Given the description of an element on the screen output the (x, y) to click on. 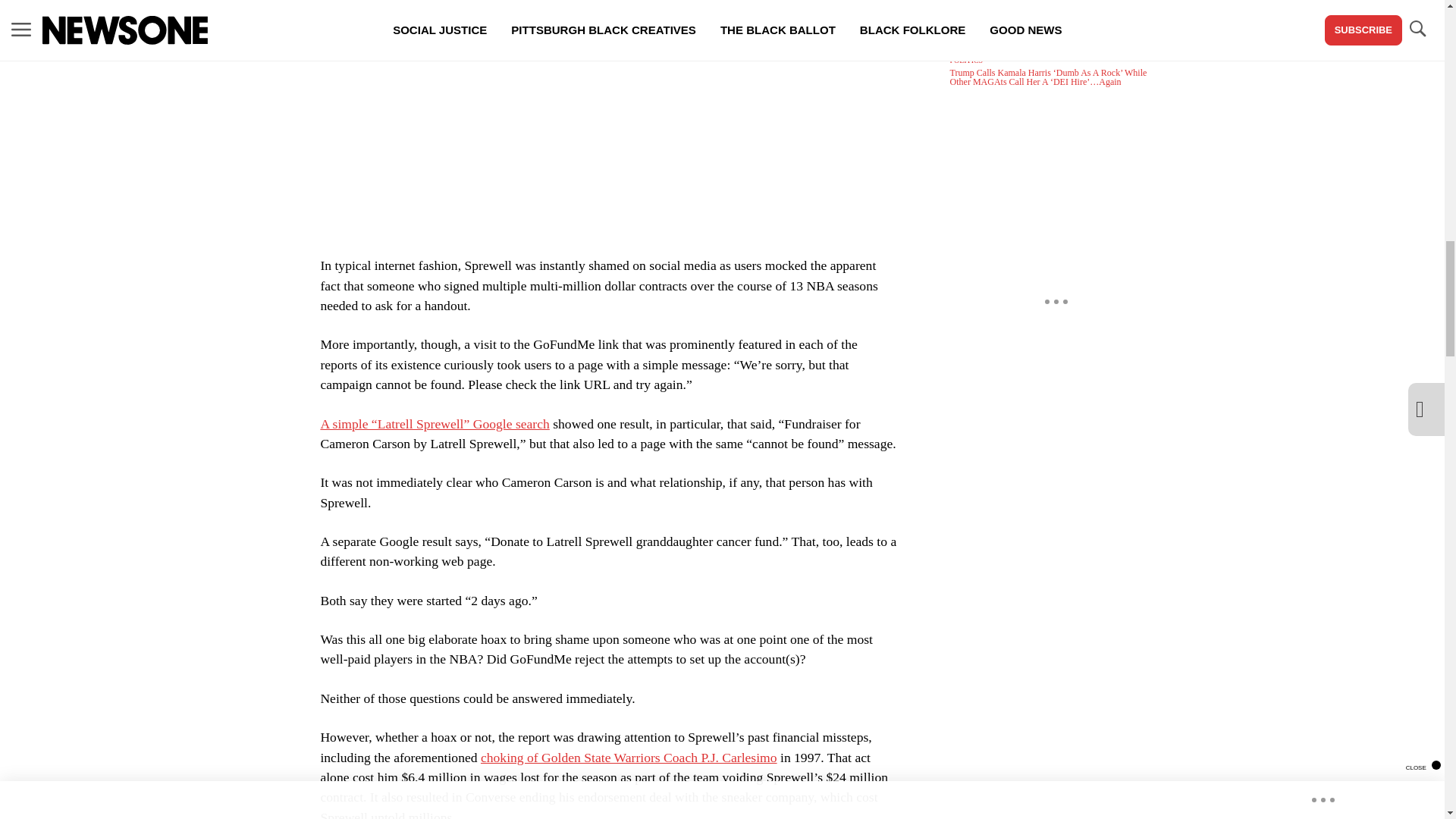
choking of Golden State Warriors Coach P.J. Carlesimo (628, 757)
